Given the description of an element on the screen output the (x, y) to click on. 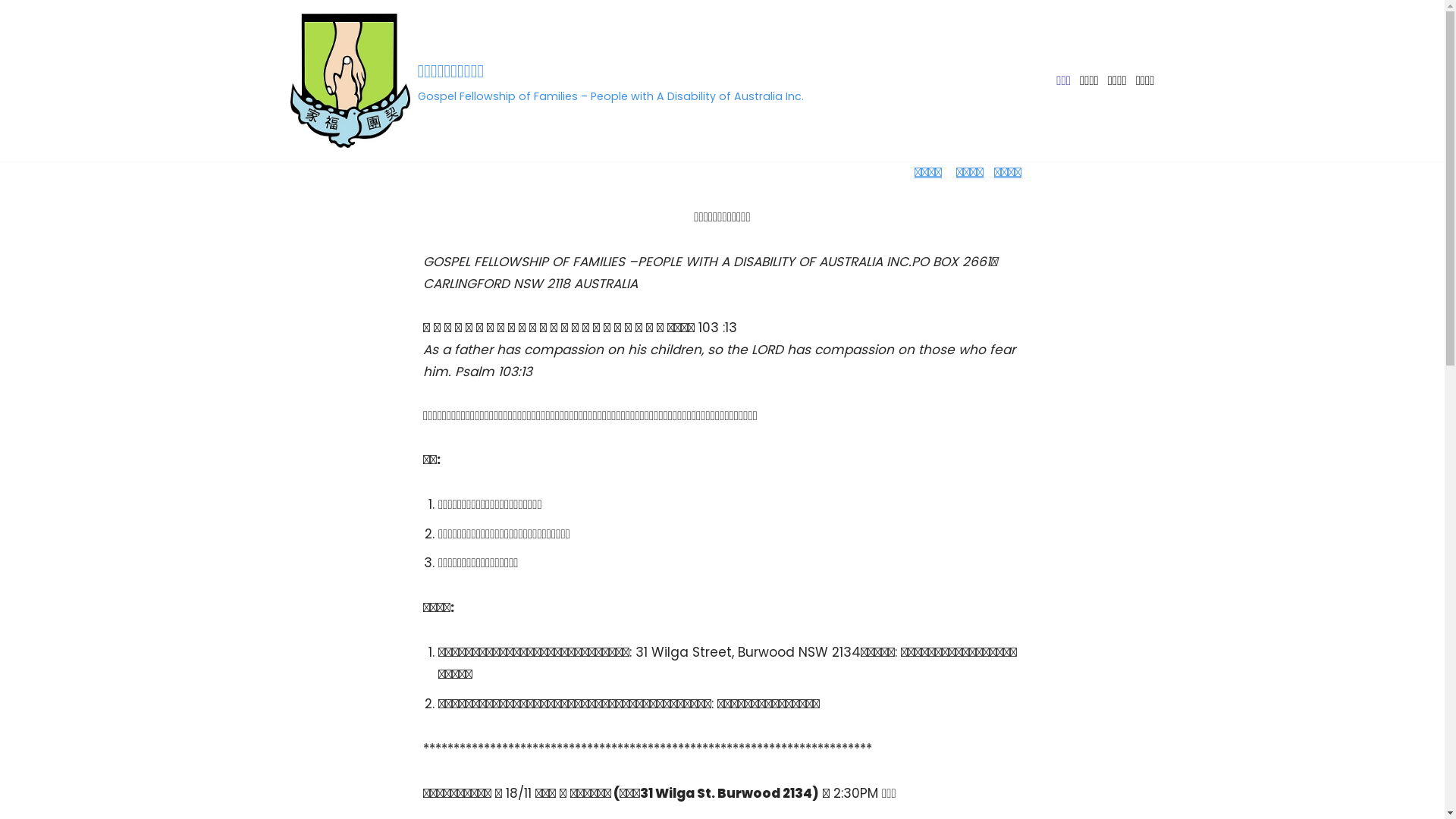
Skip to content Element type: text (11, 31)
